Given the description of an element on the screen output the (x, y) to click on. 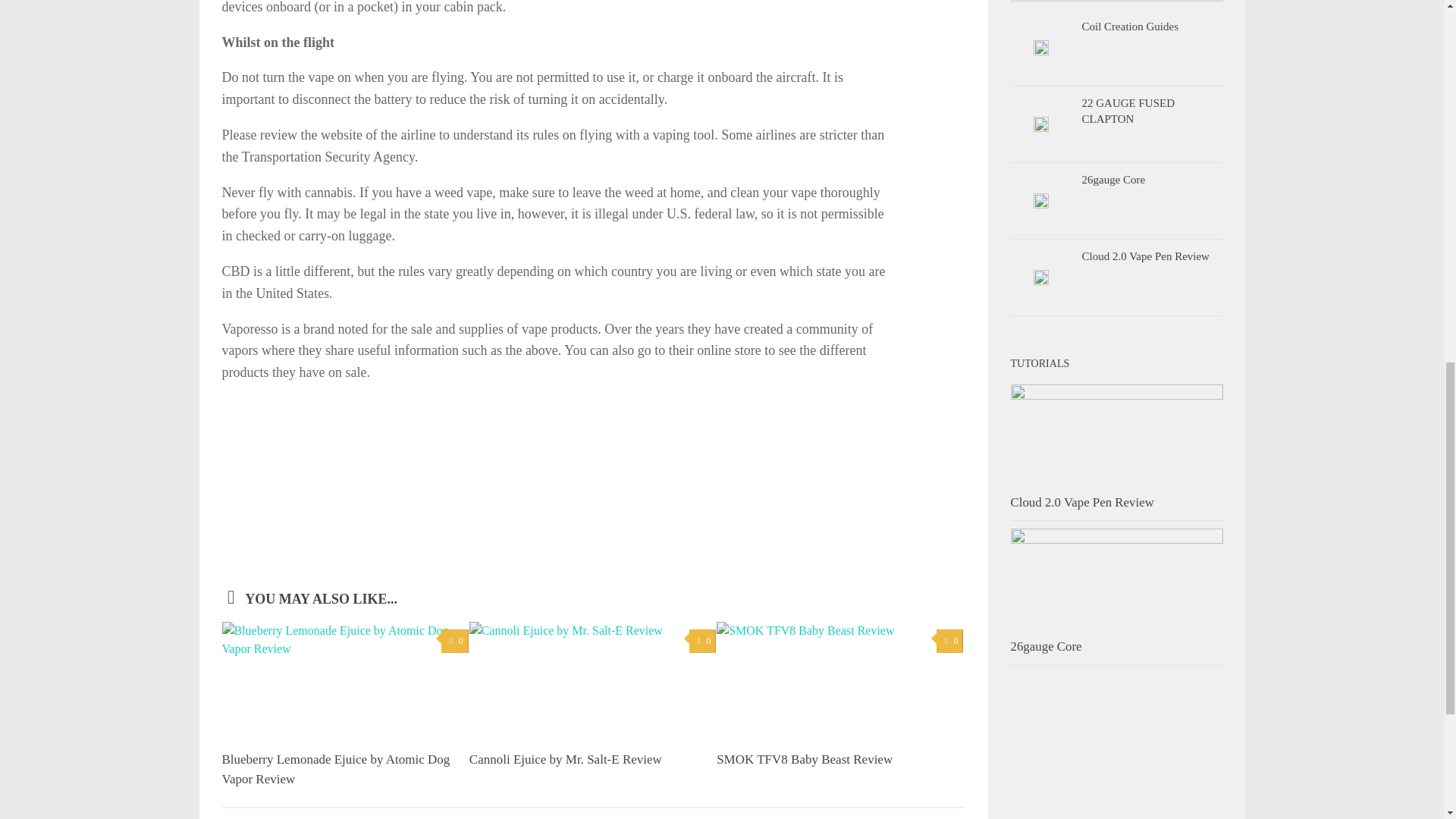
0 (702, 640)
0 (949, 640)
Blueberry Lemonade Ejuice by Atomic Dog Vapor Review (335, 769)
Recent Posts (1063, 1)
Popular Posts (1169, 1)
Cannoli Ejuice by Mr. Salt-E Review (565, 759)
SMOK TFV8 Baby Beast Review (804, 759)
0 (454, 640)
